Given the description of an element on the screen output the (x, y) to click on. 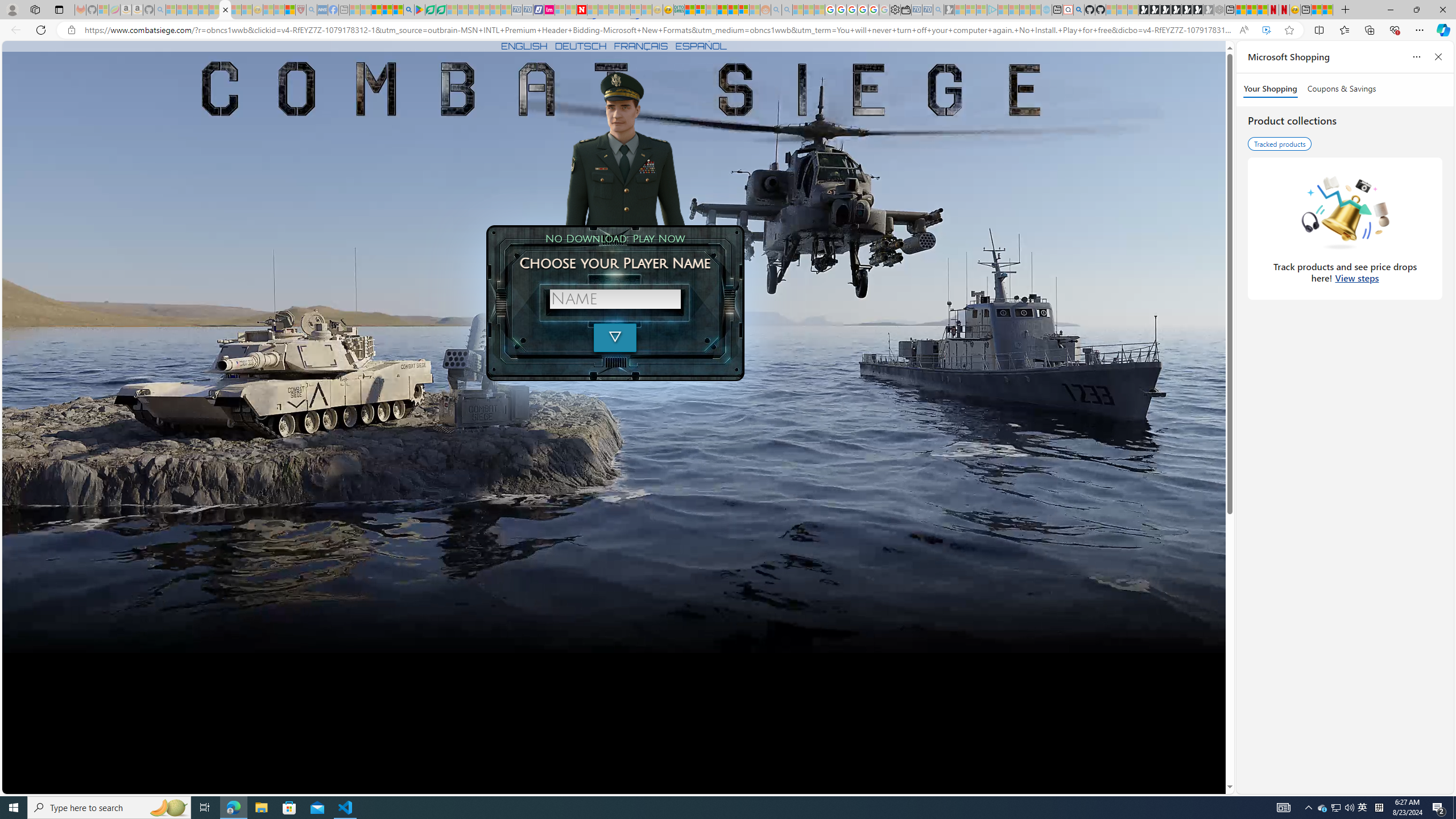
Terms of Use Agreement (430, 9)
Pets - MSN (387, 9)
